Given the description of an element on the screen output the (x, y) to click on. 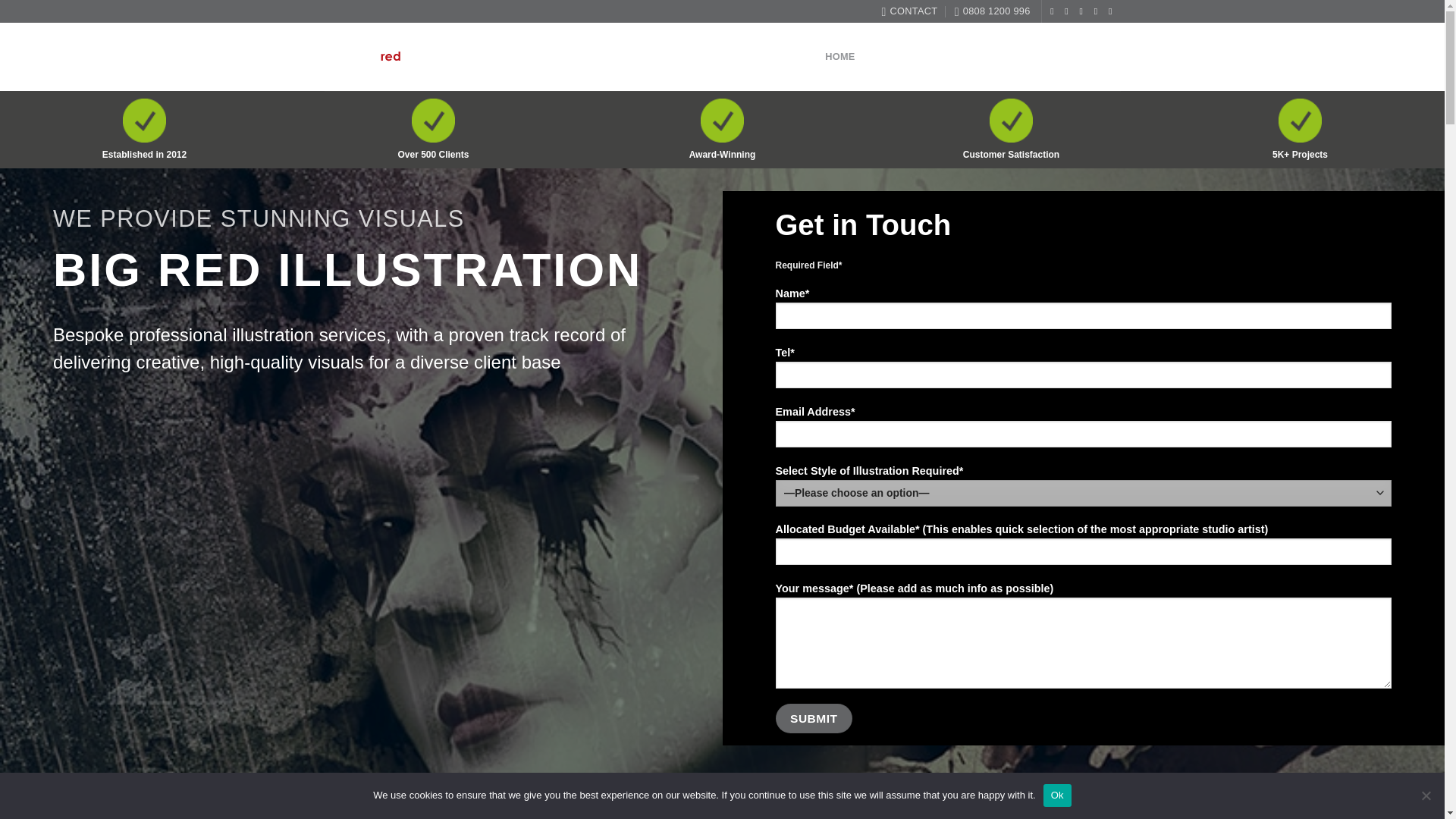
ILLUSTRATION SERVICES (994, 57)
CONTACT (1095, 56)
ABOUT US (892, 56)
HOME (839, 56)
CONTACT (908, 11)
0808 1200 996 (992, 11)
0808 1200 996 (992, 11)
Submit (812, 718)
Submit (812, 718)
